Given the description of an element on the screen output the (x, y) to click on. 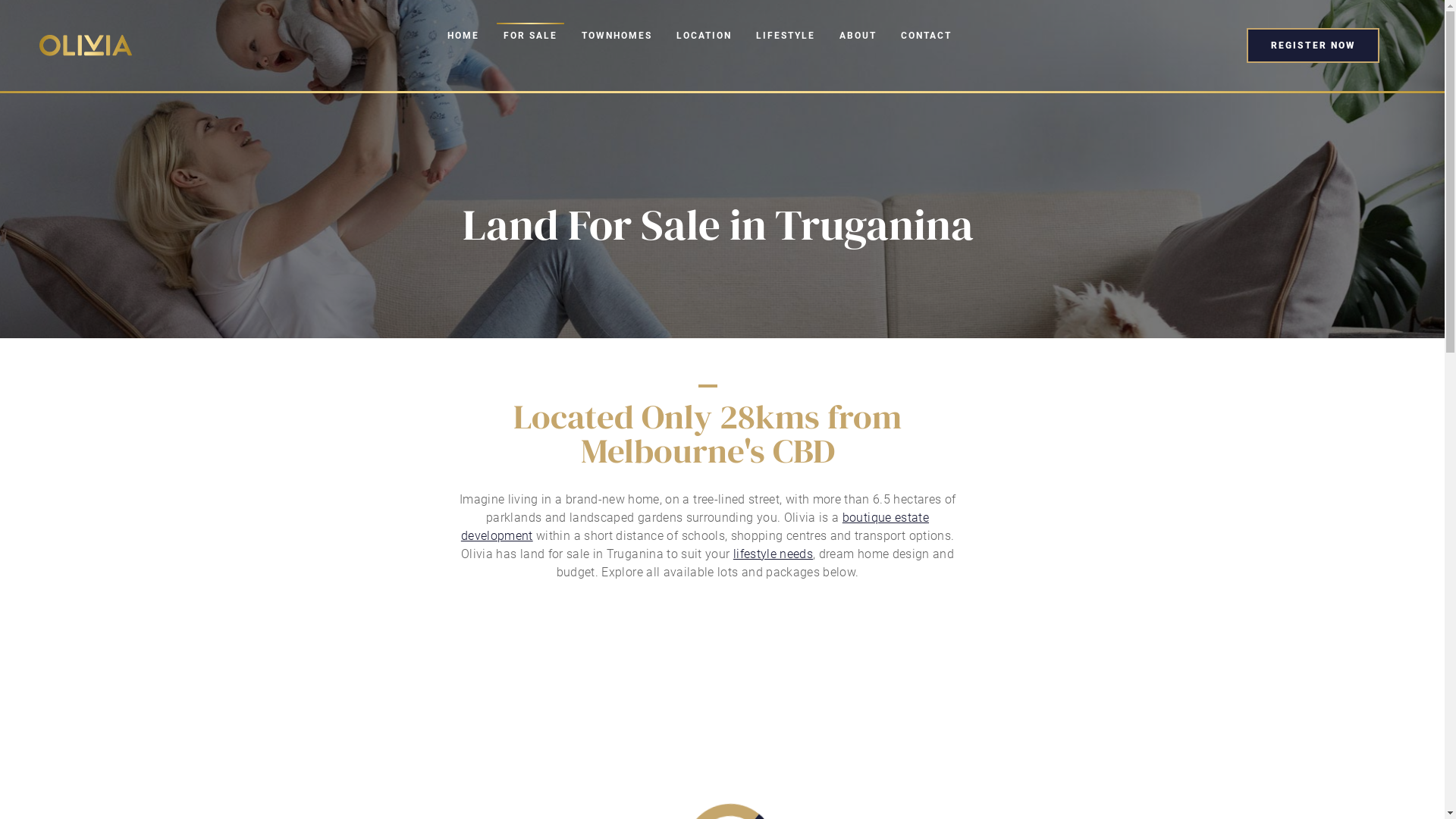
ABOUT Element type: text (857, 35)
CONTACT Element type: text (926, 35)
REGISTER NOW Element type: text (1312, 45)
boutique estate development Element type: text (694, 526)
LIFESTYLE Element type: text (785, 35)
TOWNHOMES Element type: text (616, 35)
lifestyle needs Element type: text (772, 553)
FOR SALE Element type: text (530, 35)
divider-b Element type: hover (707, 385)
LOCATION Element type: text (703, 35)
HOME Element type: text (463, 35)
